Given the description of an element on the screen output the (x, y) to click on. 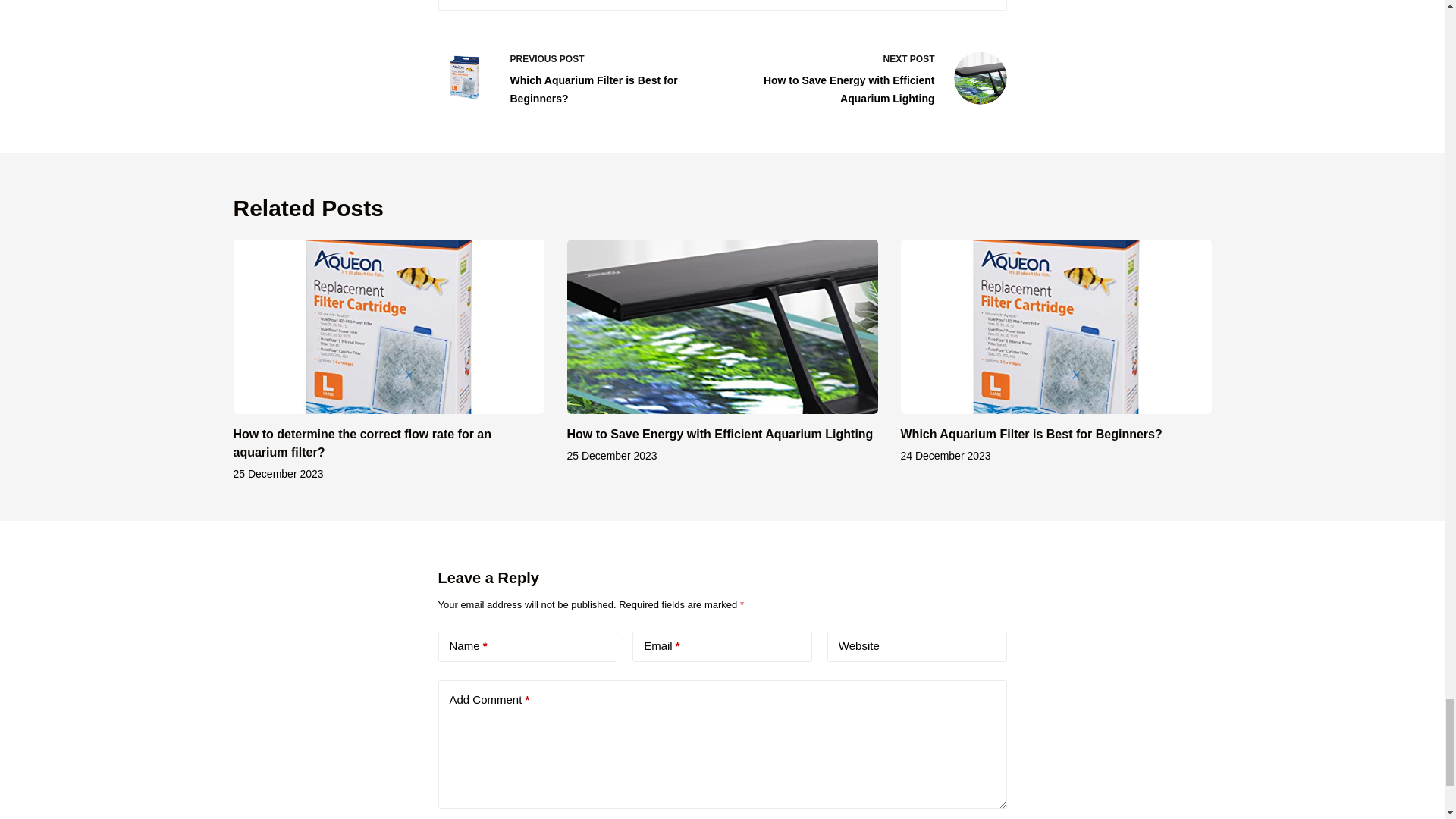
Which Aquarium Filter is Best for Beginners? (1031, 433)
How to Save Energy with Efficient Aquarium Lighting (720, 433)
